Given the description of an element on the screen output the (x, y) to click on. 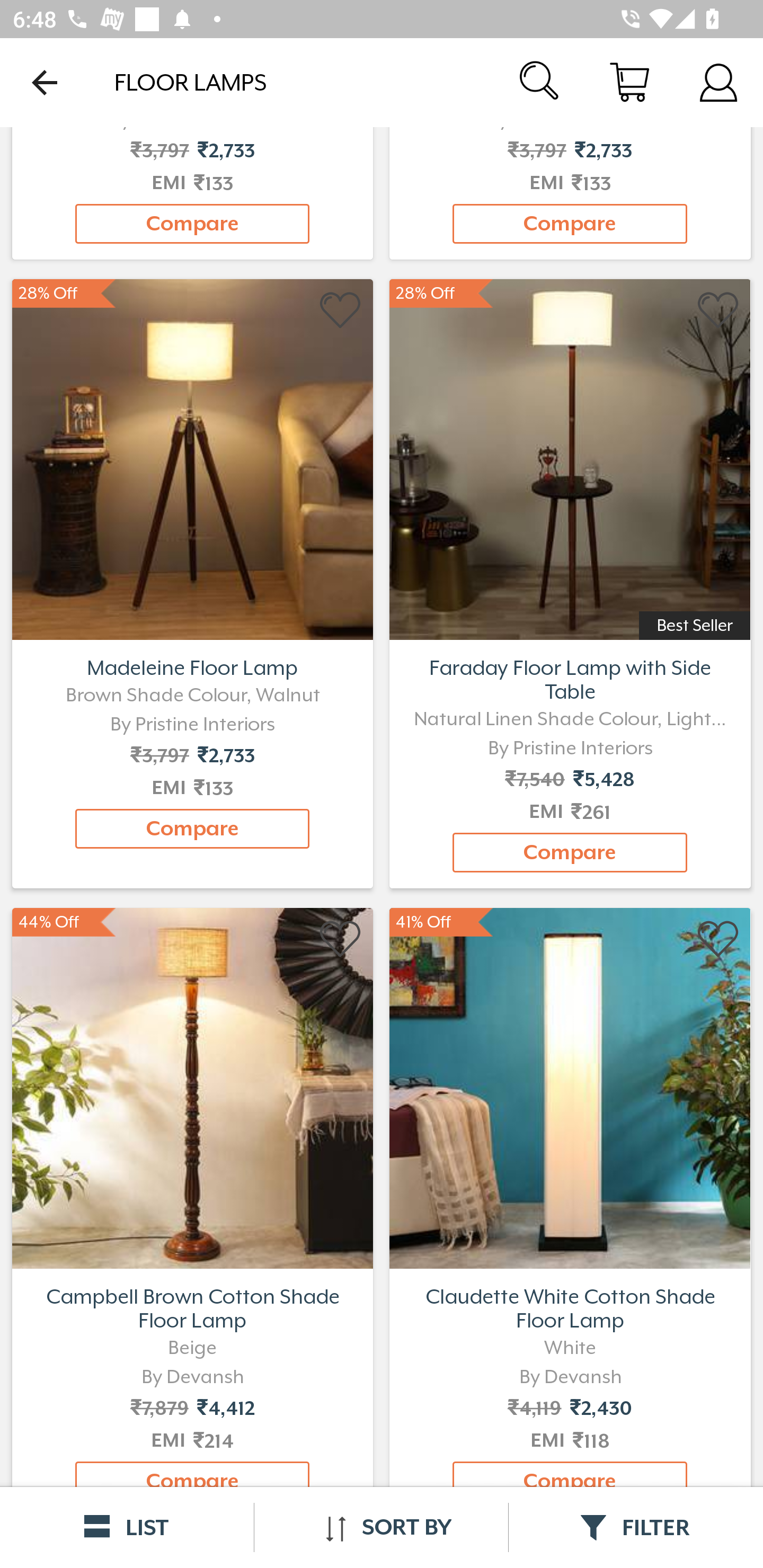
Navigate up (44, 82)
Search (540, 81)
Cart (629, 81)
Account Details (718, 81)
Compare (192, 223)
Compare (569, 223)
 (341, 311)
 (718, 311)
Compare (192, 828)
Compare (569, 851)
 (341, 939)
 (718, 939)
 LIST (127, 1527)
SORT BY (381, 1527)
 FILTER (635, 1527)
